Given the description of an element on the screen output the (x, y) to click on. 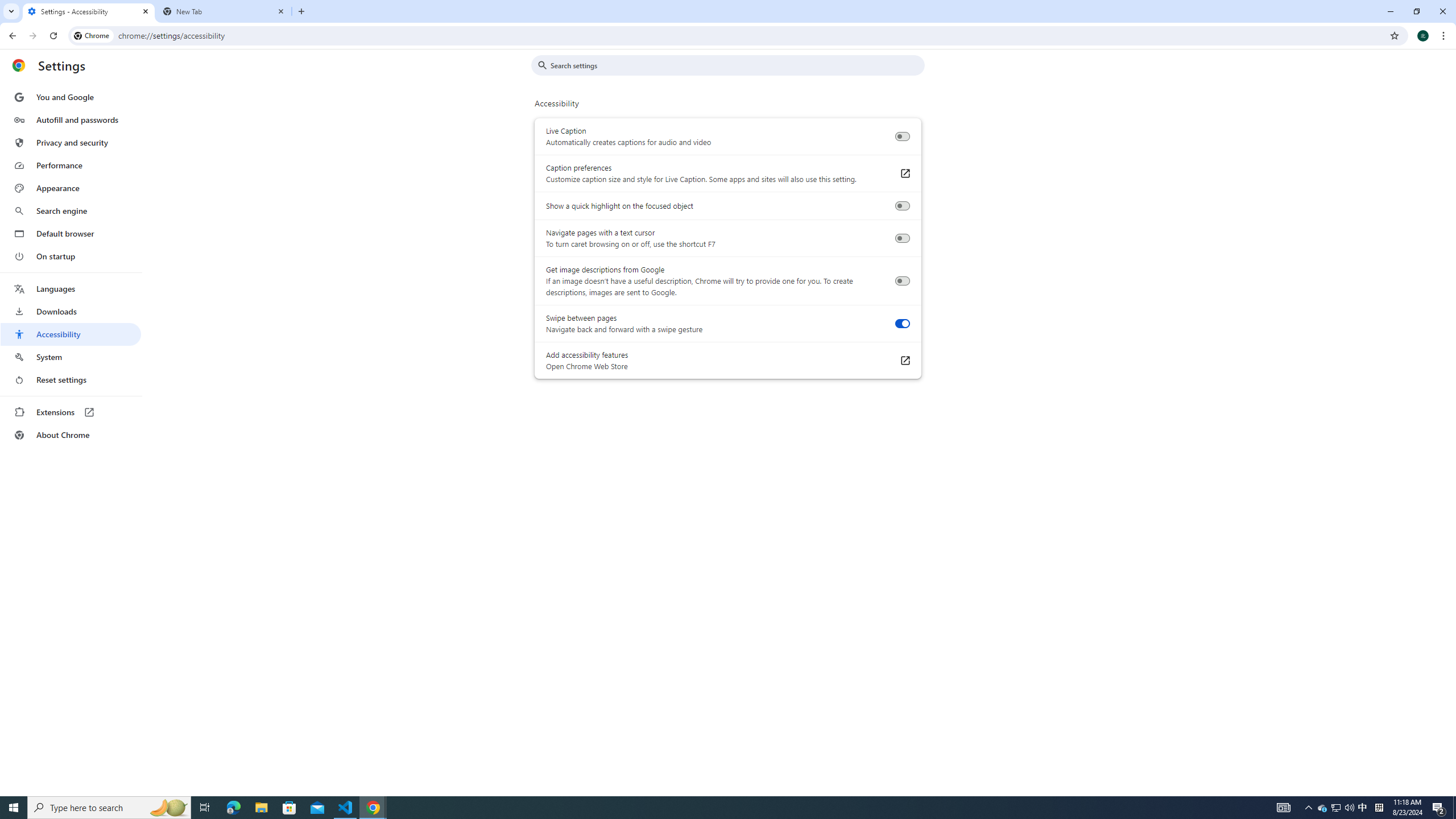
Downloads (70, 311)
Navigate pages with a text cursor (901, 238)
About Chrome (70, 434)
Extensions (70, 412)
Accessibility (70, 333)
Languages (70, 288)
Search engine (70, 210)
Search settings (735, 65)
Privacy and security (70, 142)
